Given the description of an element on the screen output the (x, y) to click on. 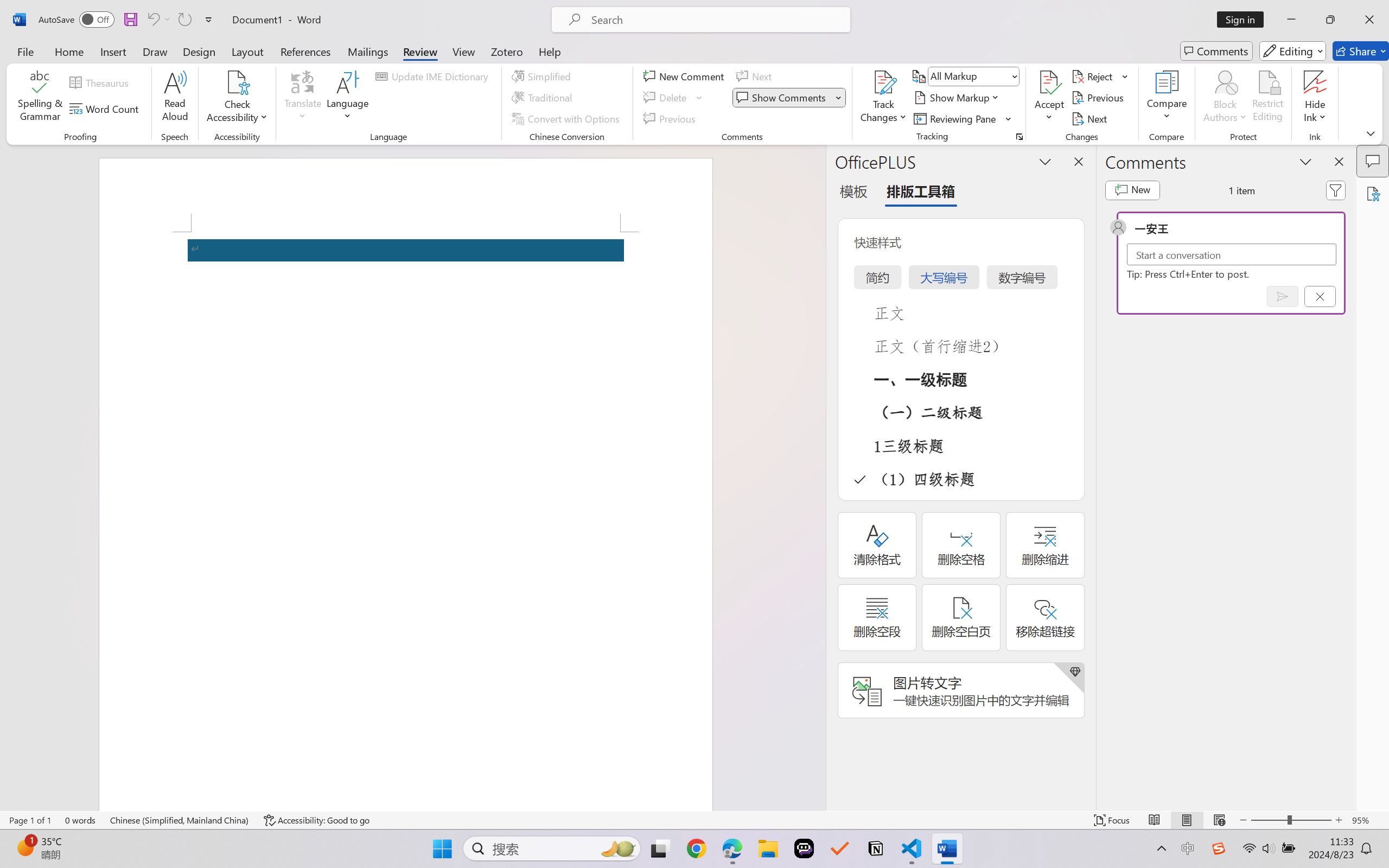
Sign in (1244, 19)
Language Chinese (Simplified, Mainland China) (179, 819)
Repeat Accessibility Checker (184, 19)
Hide Ink (1315, 81)
Word Count (105, 108)
